Given the description of an element on the screen output the (x, y) to click on. 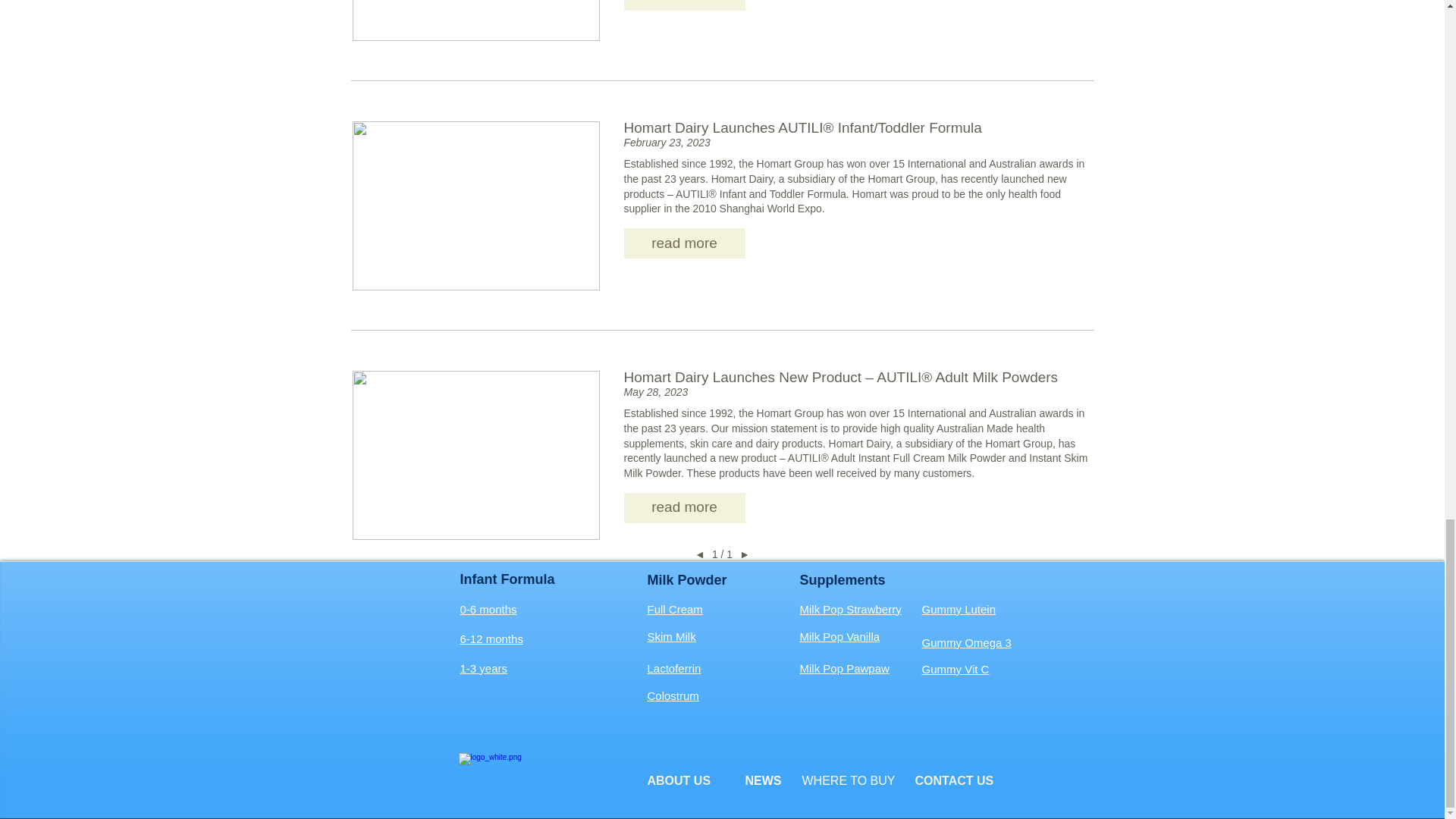
Autili infant formula photo-01.jpg (474, 205)
Homart Dairy logo.png (534, 771)
Autili adult milk powder (474, 455)
